Given the description of an element on the screen output the (x, y) to click on. 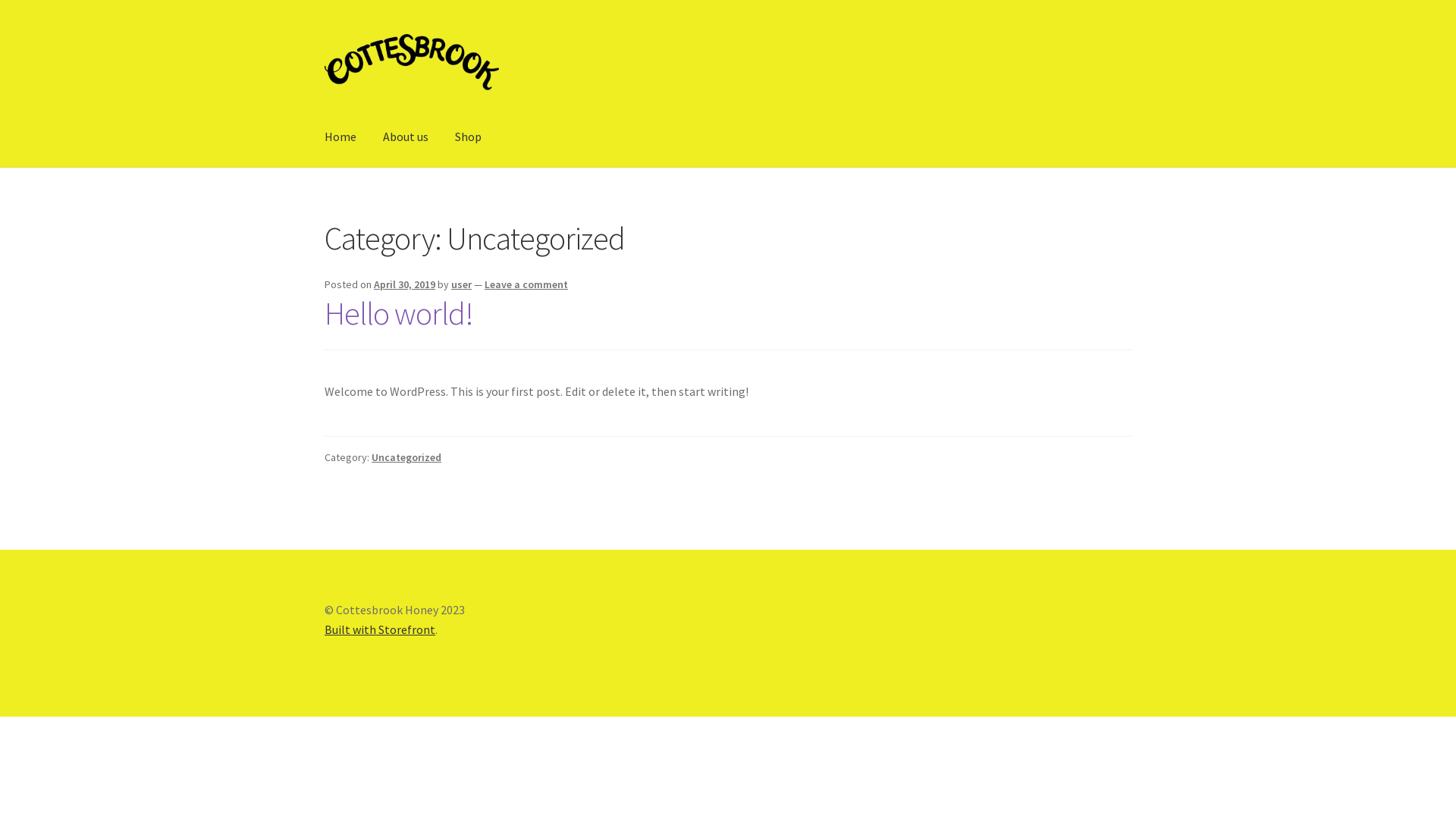
About us Element type: text (405, 136)
user Element type: text (461, 284)
Home Element type: text (340, 136)
Leave a comment Element type: text (525, 284)
Hello world! Element type: text (398, 312)
April 30, 2019 Element type: text (404, 284)
Skip to navigation Element type: text (323, 31)
Shop Element type: text (467, 136)
Built with Storefront Element type: text (379, 629)
Uncategorized Element type: text (406, 457)
